Given the description of an element on the screen output the (x, y) to click on. 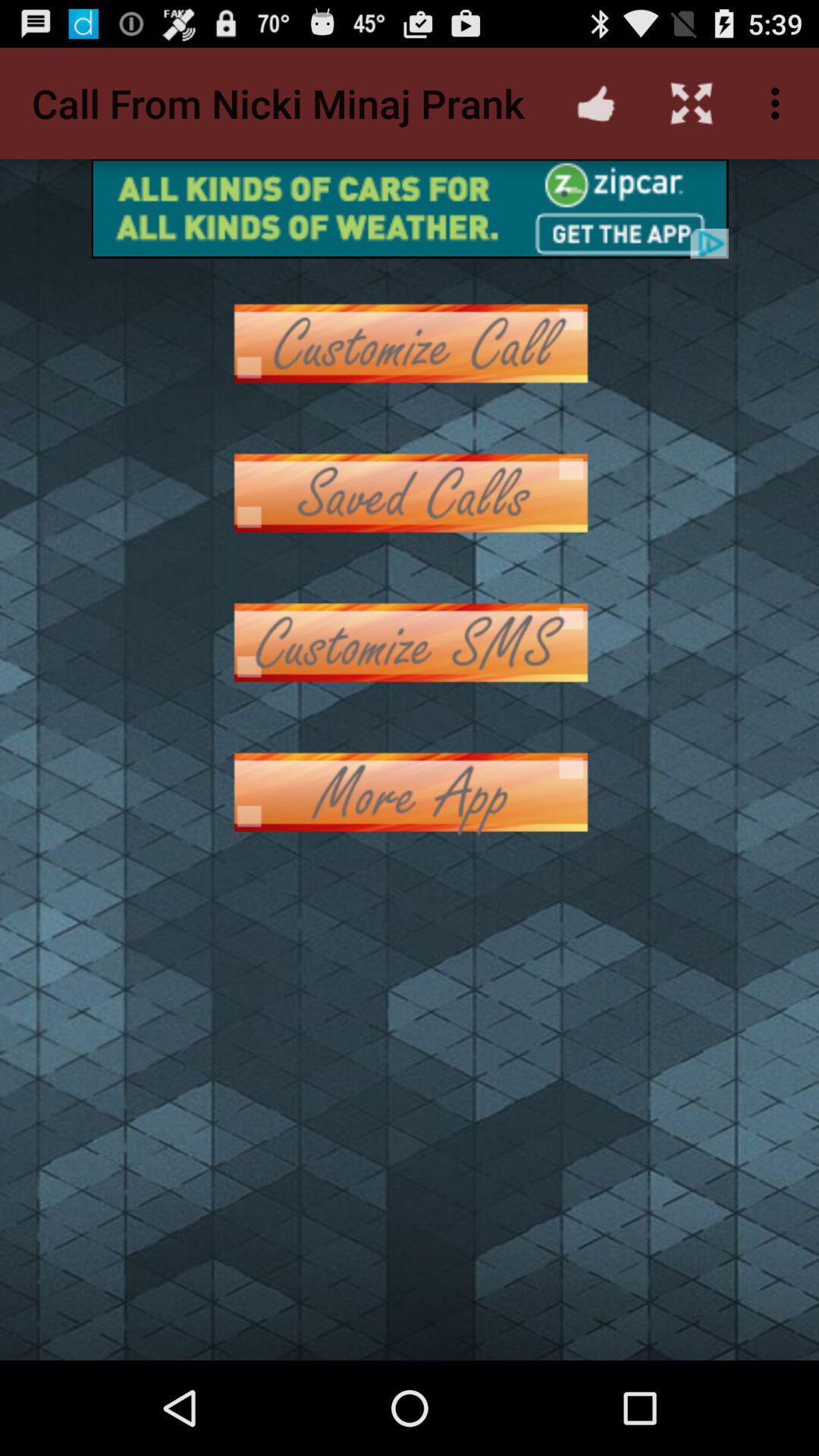
customize call button (409, 343)
